Given the description of an element on the screen output the (x, y) to click on. 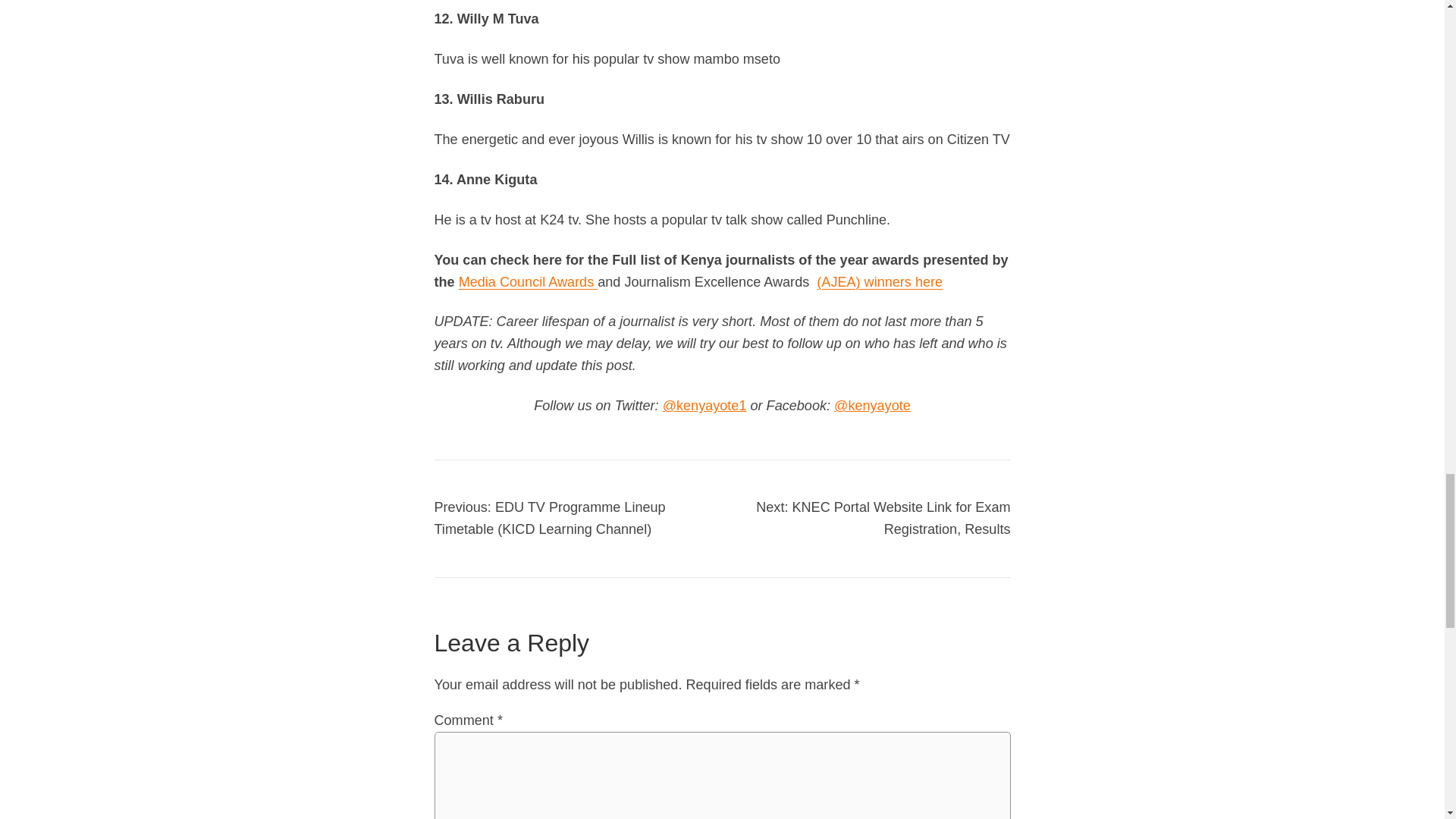
Media Council Awards (528, 281)
